Given the description of an element on the screen output the (x, y) to click on. 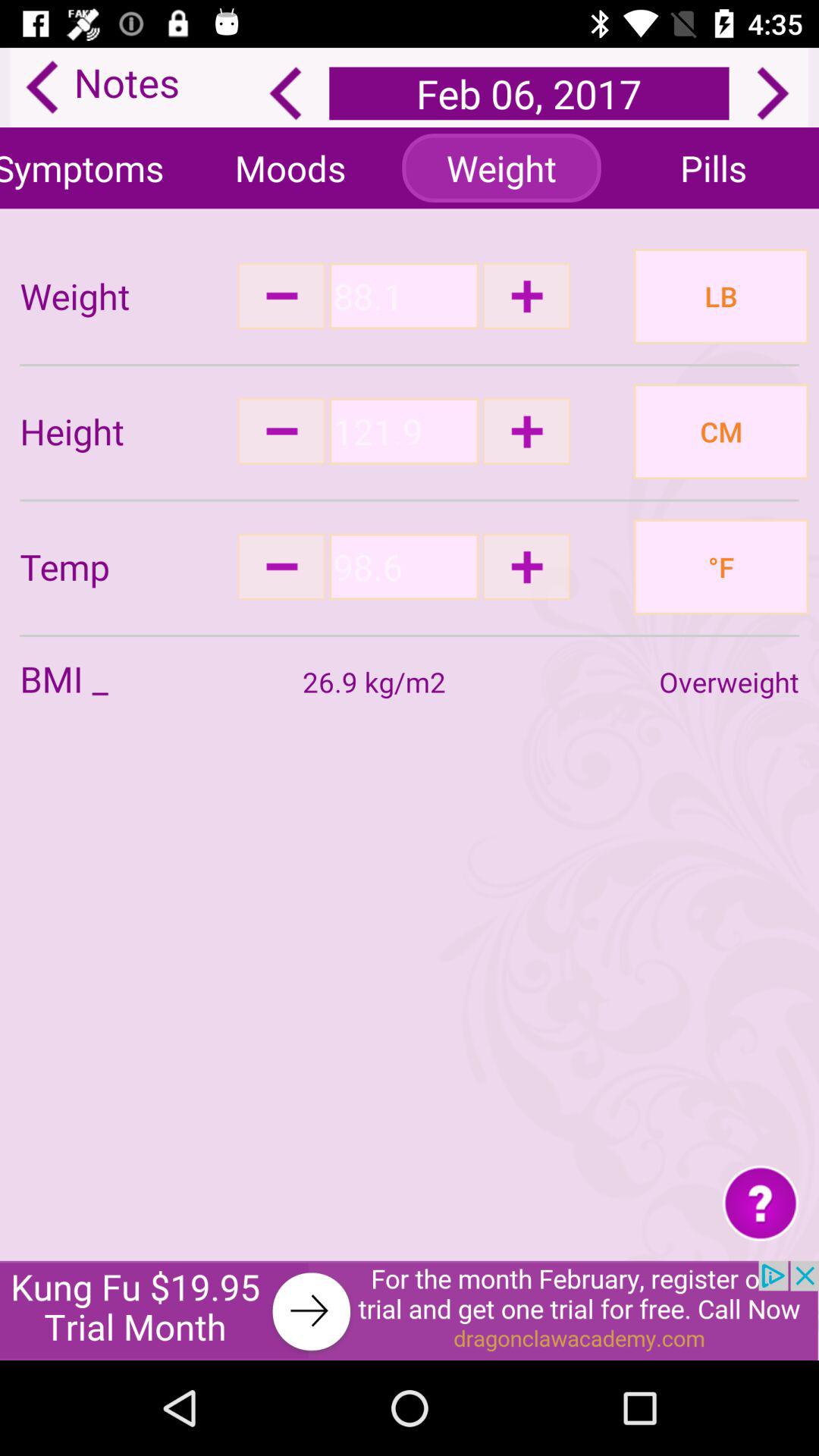
click on the question mark (760, 1202)
